Given the description of an element on the screen output the (x, y) to click on. 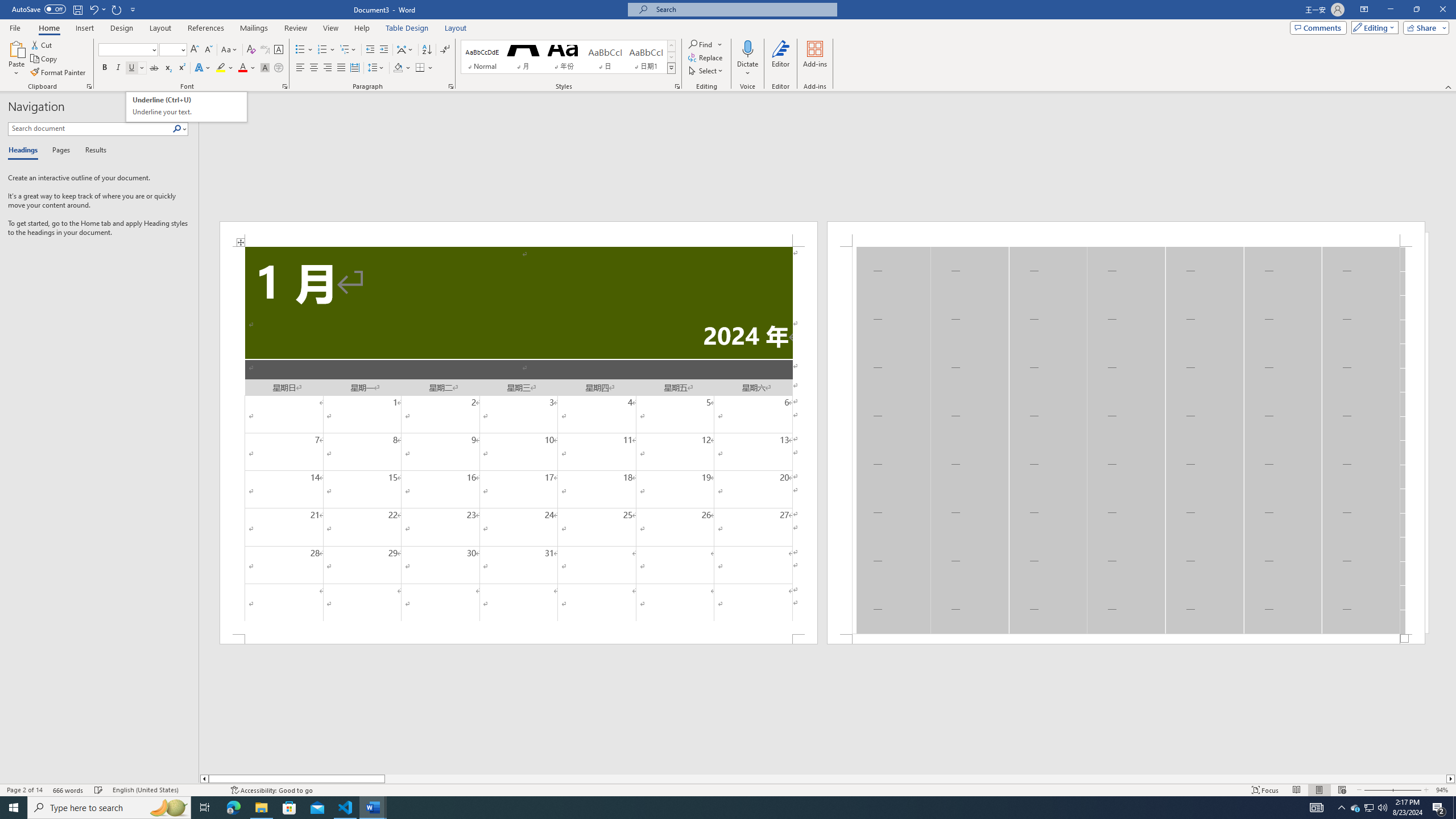
Shrink Font (208, 49)
Replace... (705, 56)
Repeat Doc Close (117, 9)
Align Left (300, 67)
Clear Formatting (250, 49)
Column left (203, 778)
